Given the description of an element on the screen output the (x, y) to click on. 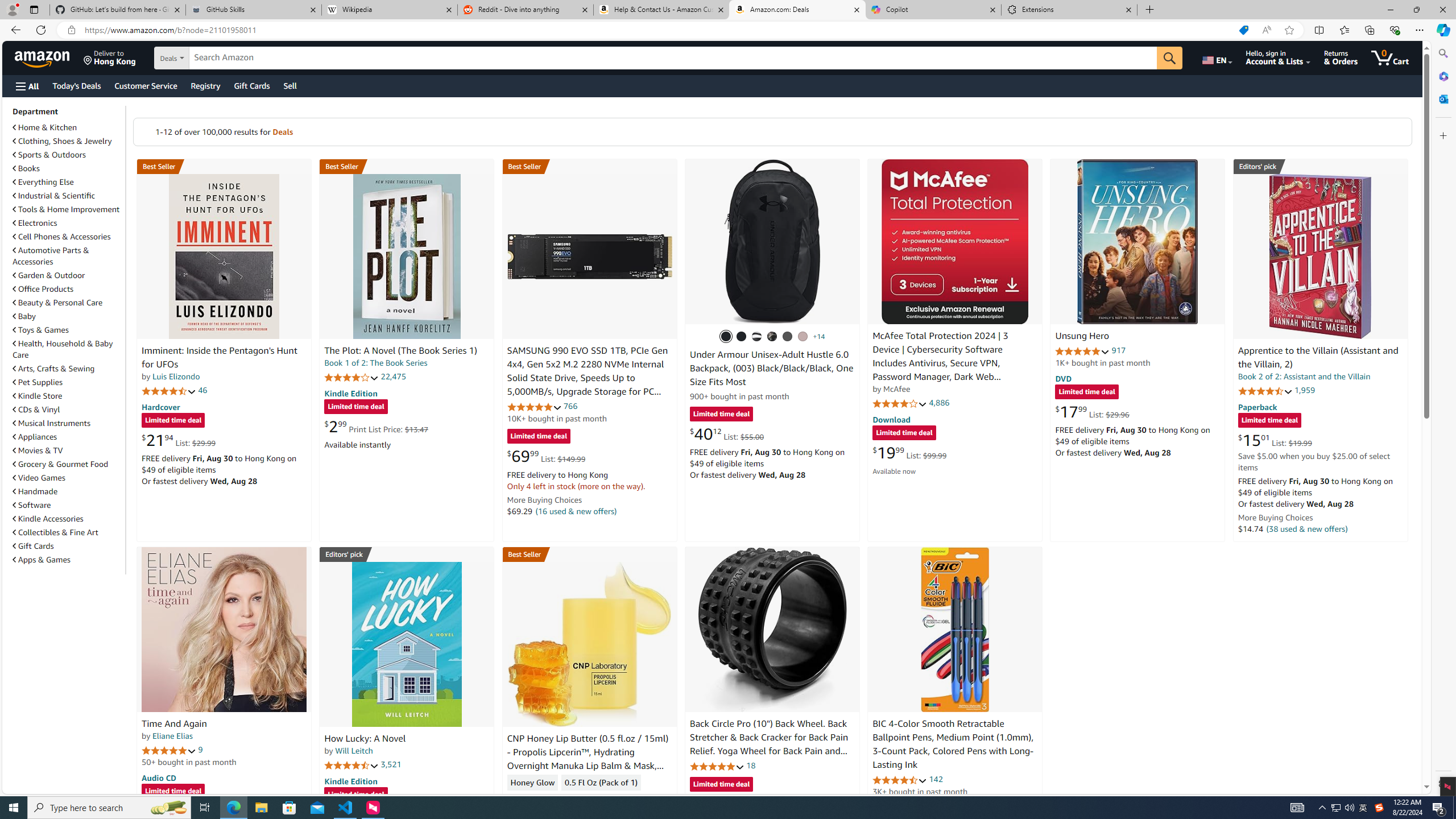
(001) Black / Black / Metallic Gold (741, 336)
Apps & Games (41, 559)
(002) Black / Black / White (756, 336)
Movies & TV (37, 450)
Cell Phones & Accessories (61, 236)
Electronics (34, 222)
Paperback (1256, 406)
Search Amazon (673, 57)
Imminent: Inside the Pentagon's Hunt for UFOs (223, 256)
Clothing, Shoes & Jewelry (62, 140)
Books (26, 167)
Garden & Outdoor (67, 274)
$17.99 List: $29.96 (1092, 411)
Audio CD (158, 777)
